Given the description of an element on the screen output the (x, y) to click on. 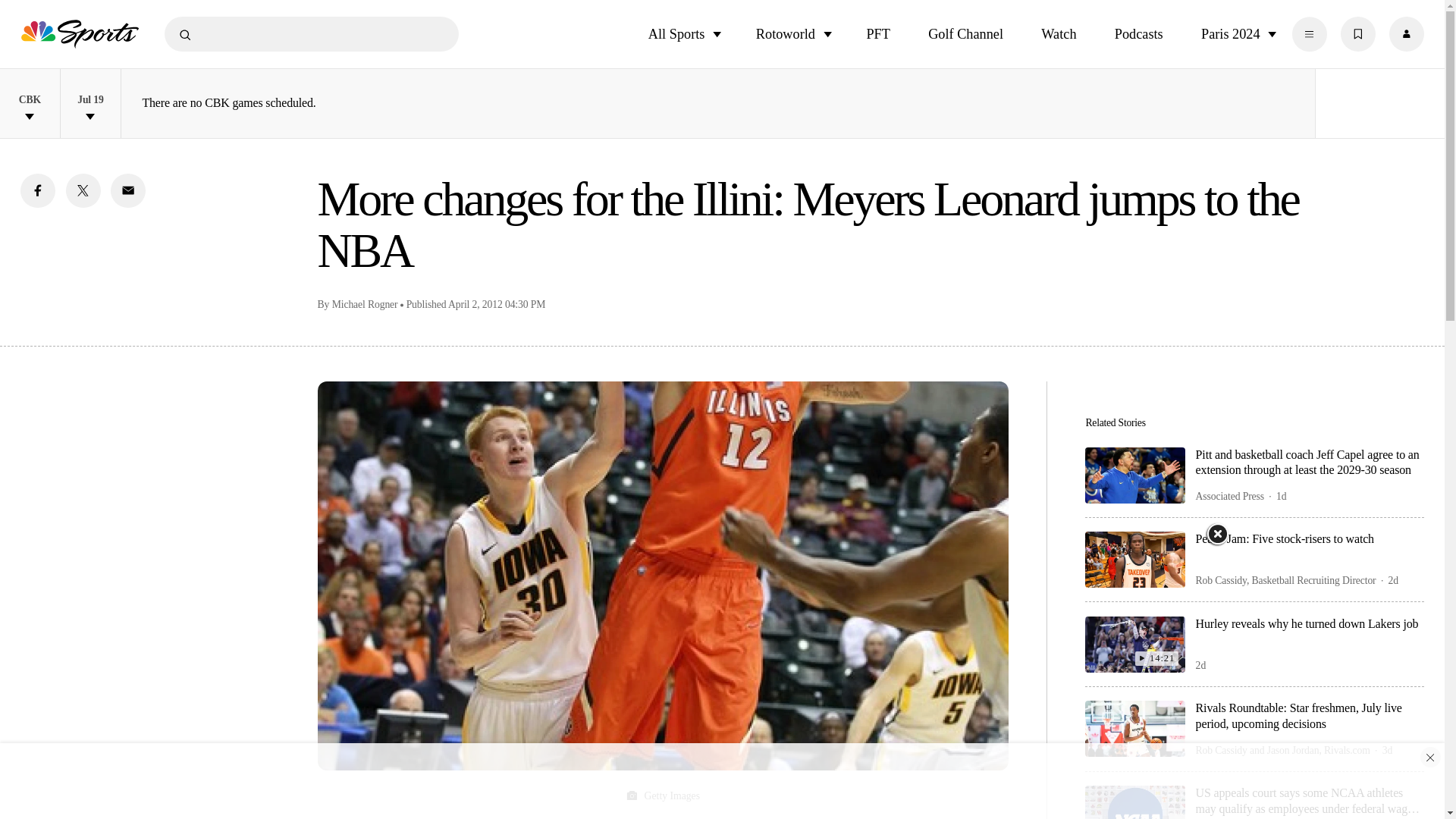
Close (1217, 533)
